Given the description of an element on the screen output the (x, y) to click on. 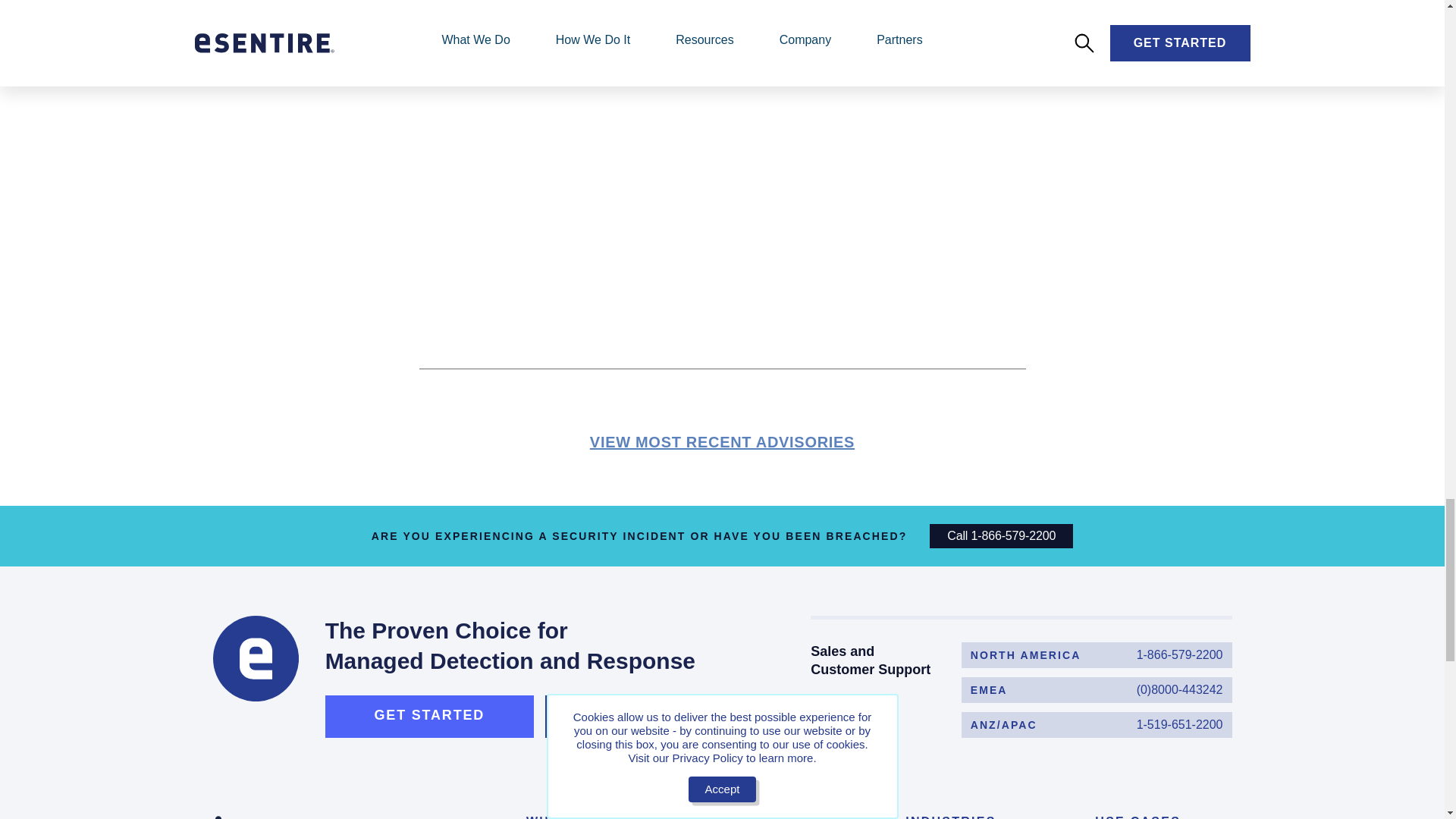
Call 1-866-579-2200 (1001, 535)
GET STARTED (429, 716)
PARTNER LOGIN (649, 716)
VIEW MOST RECENT ADVISORIES (1095, 655)
